Given the description of an element on the screen output the (x, y) to click on. 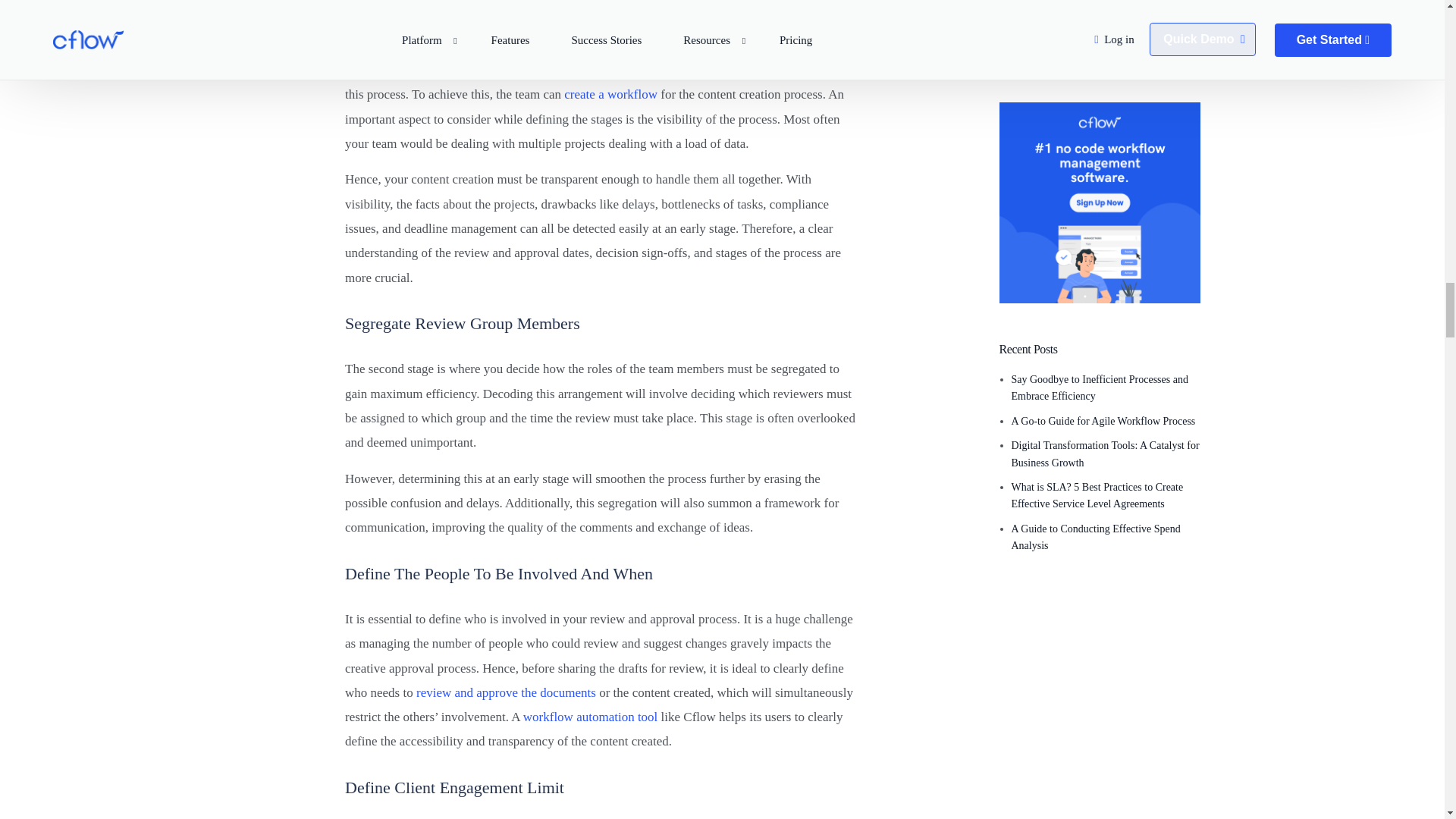
create a workflow (611, 93)
workflow automation tool (590, 716)
review and approve the documents (505, 692)
